Given the description of an element on the screen output the (x, y) to click on. 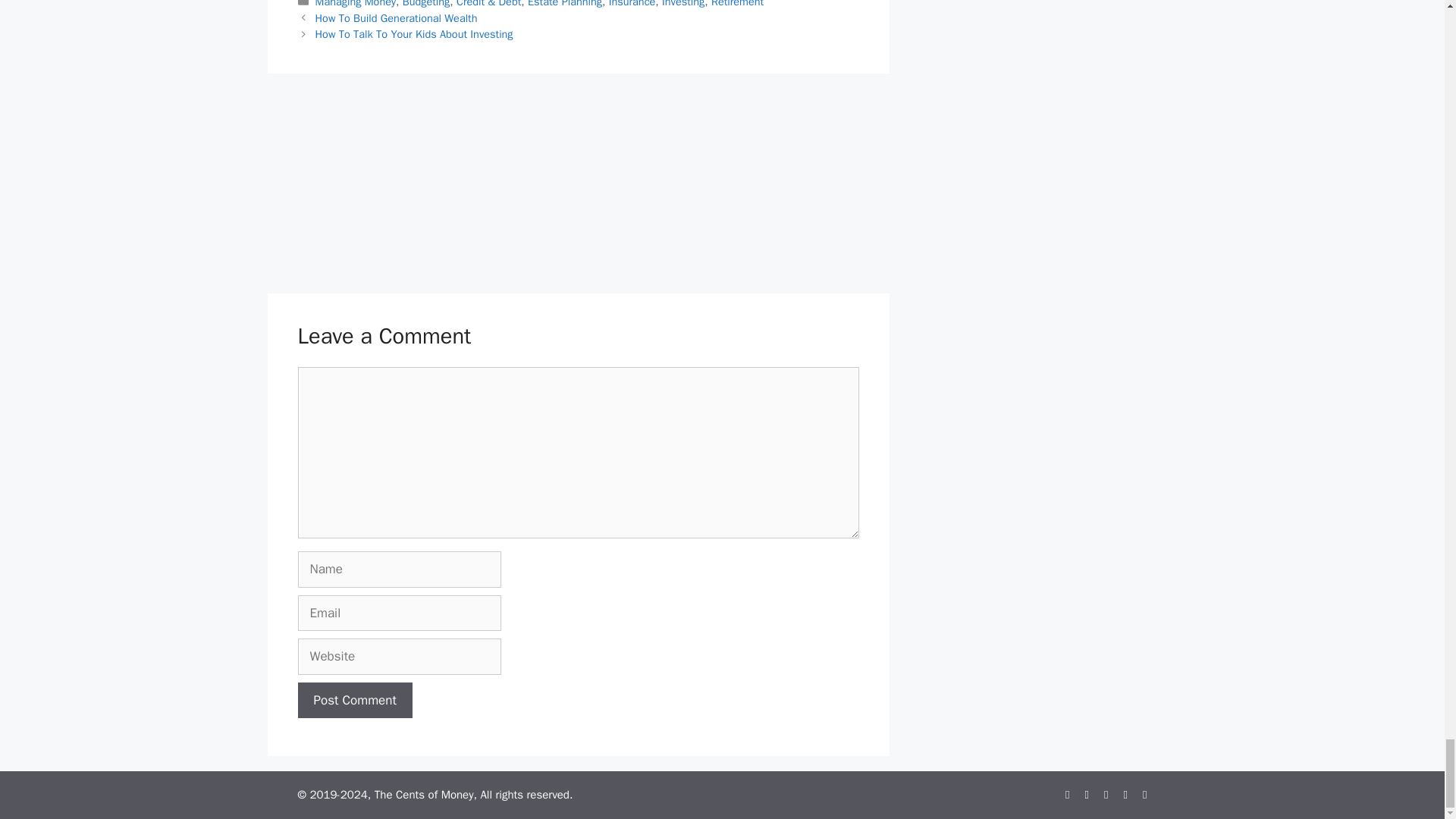
Next (414, 33)
Previous (396, 18)
Post Comment (354, 700)
